Given the description of an element on the screen output the (x, y) to click on. 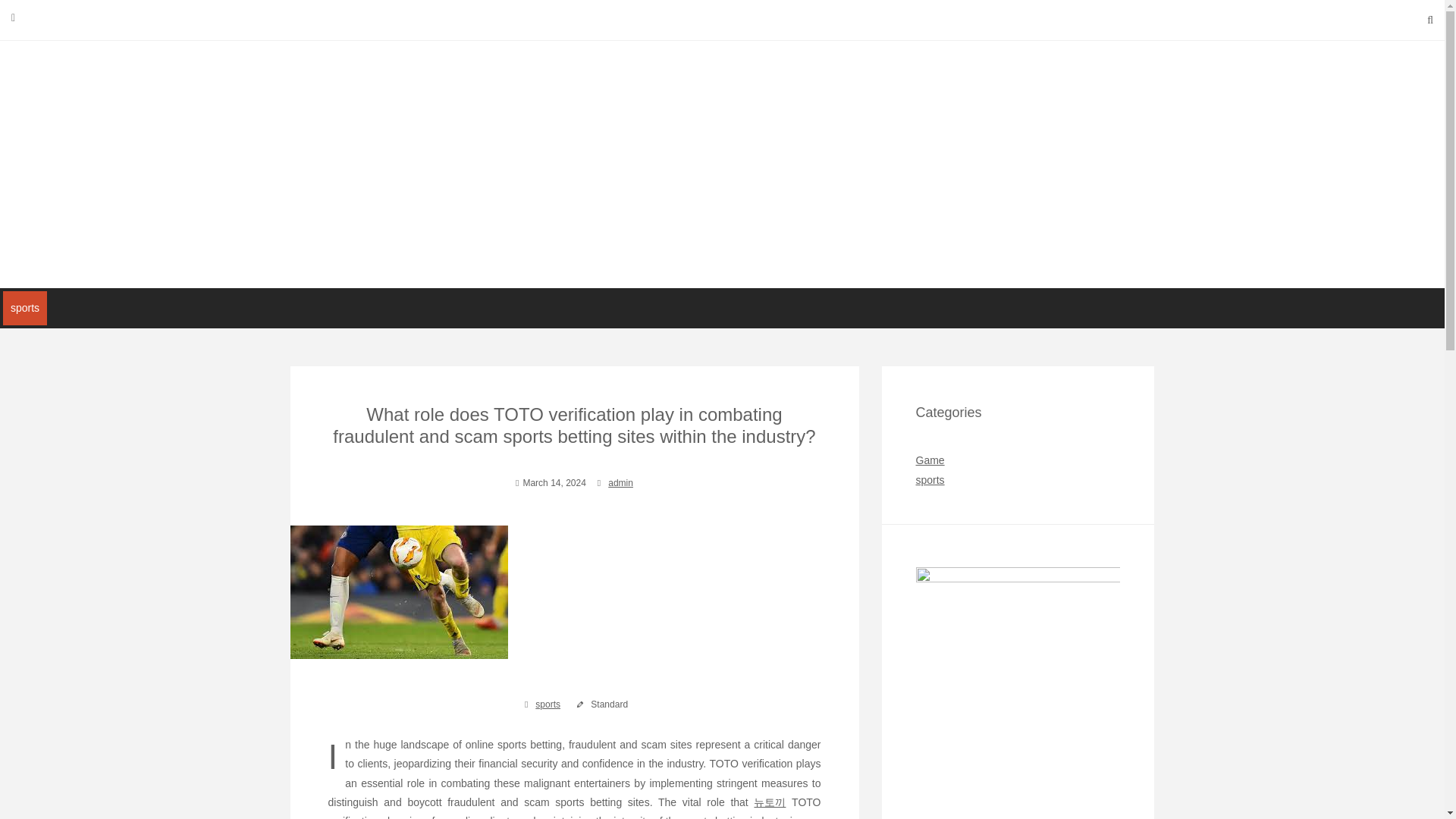
sports (929, 480)
admin (722, 164)
sports (620, 482)
Sw Fladrenaline (24, 308)
Game (722, 164)
sports (929, 460)
Posts by admin (547, 704)
